Given the description of an element on the screen output the (x, y) to click on. 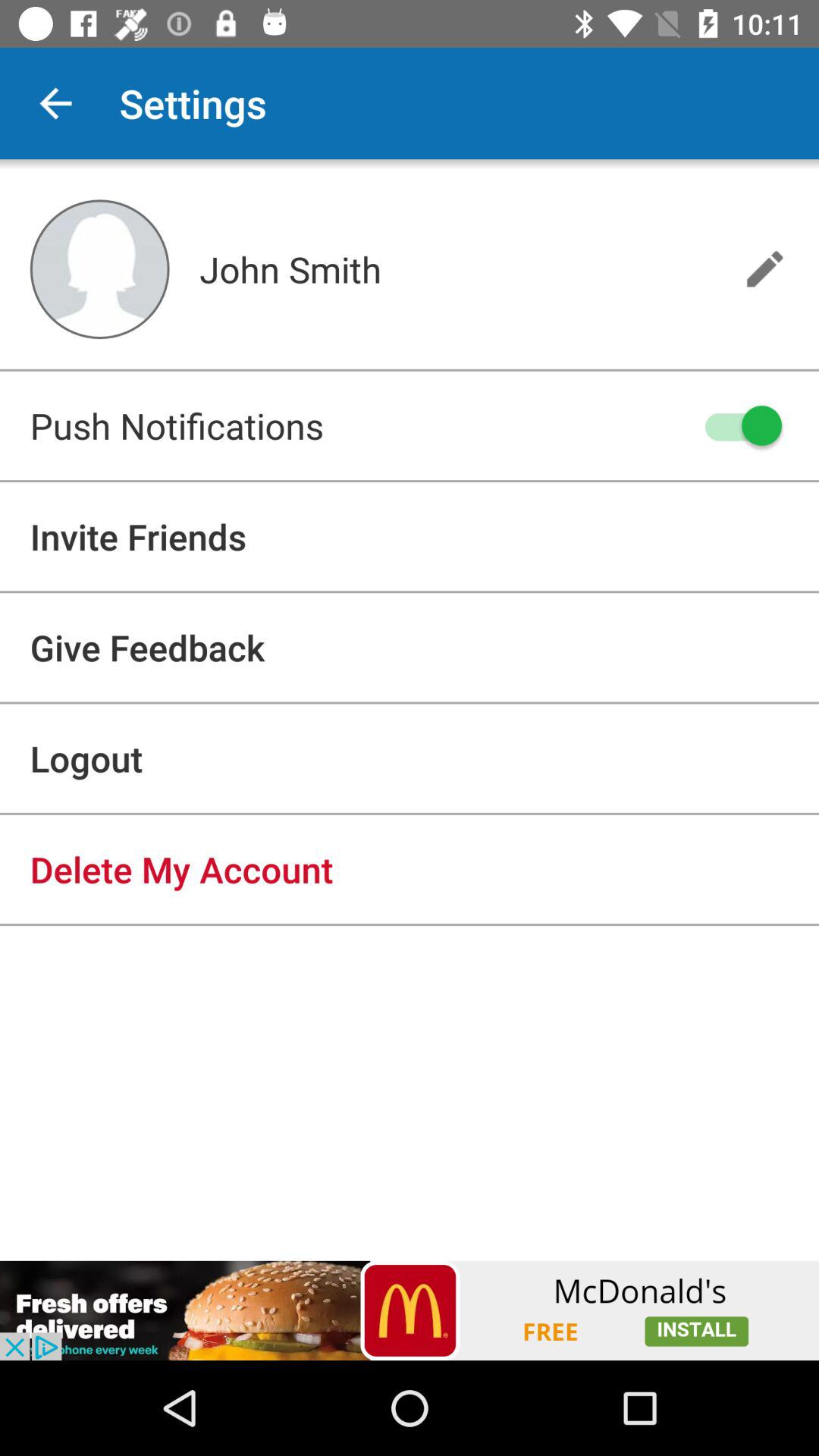
edit (764, 268)
